Given the description of an element on the screen output the (x, y) to click on. 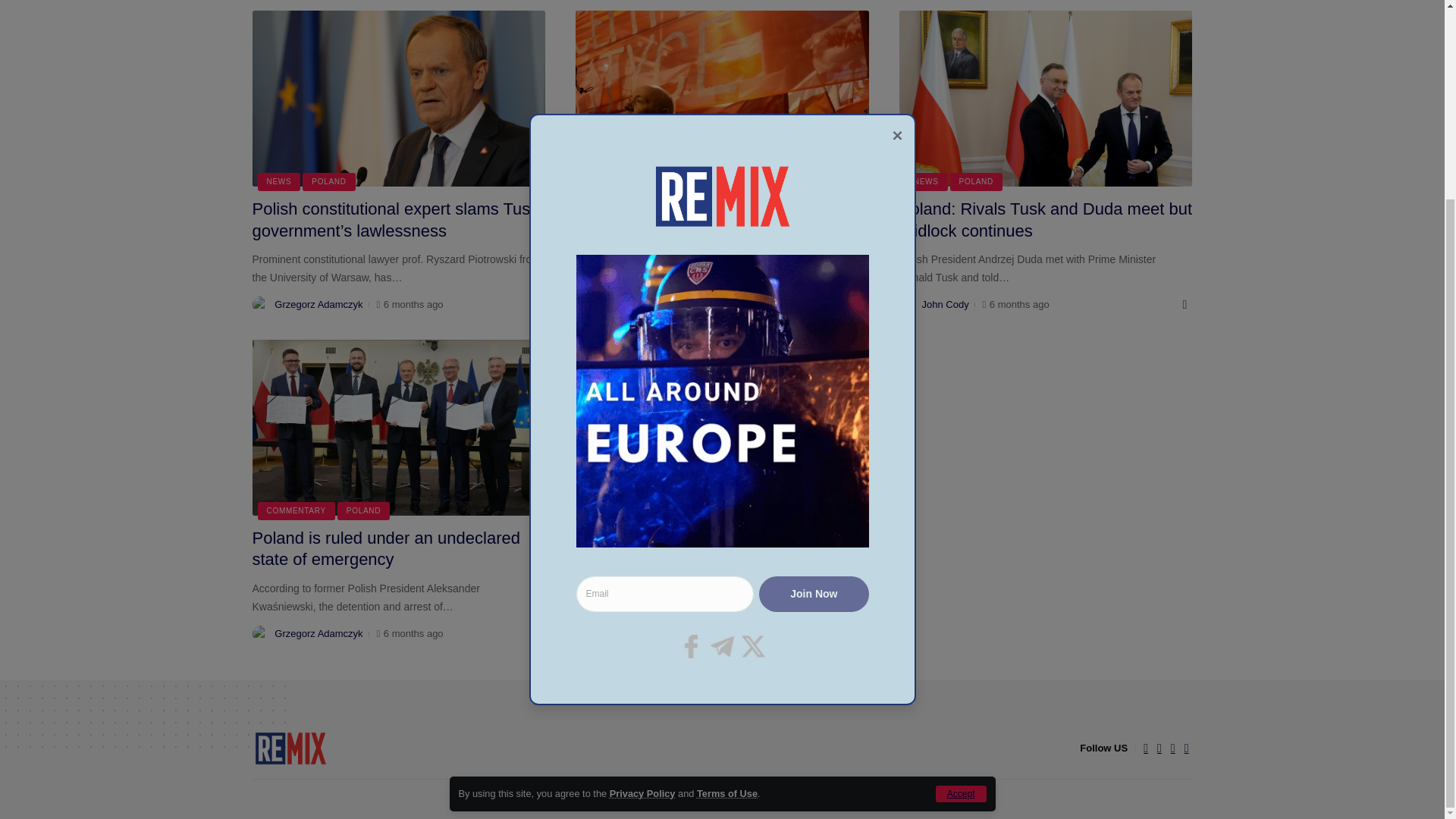
Terms of Use (727, 540)
Accept (961, 540)
Privacy Policy (642, 540)
